Given the description of an element on the screen output the (x, y) to click on. 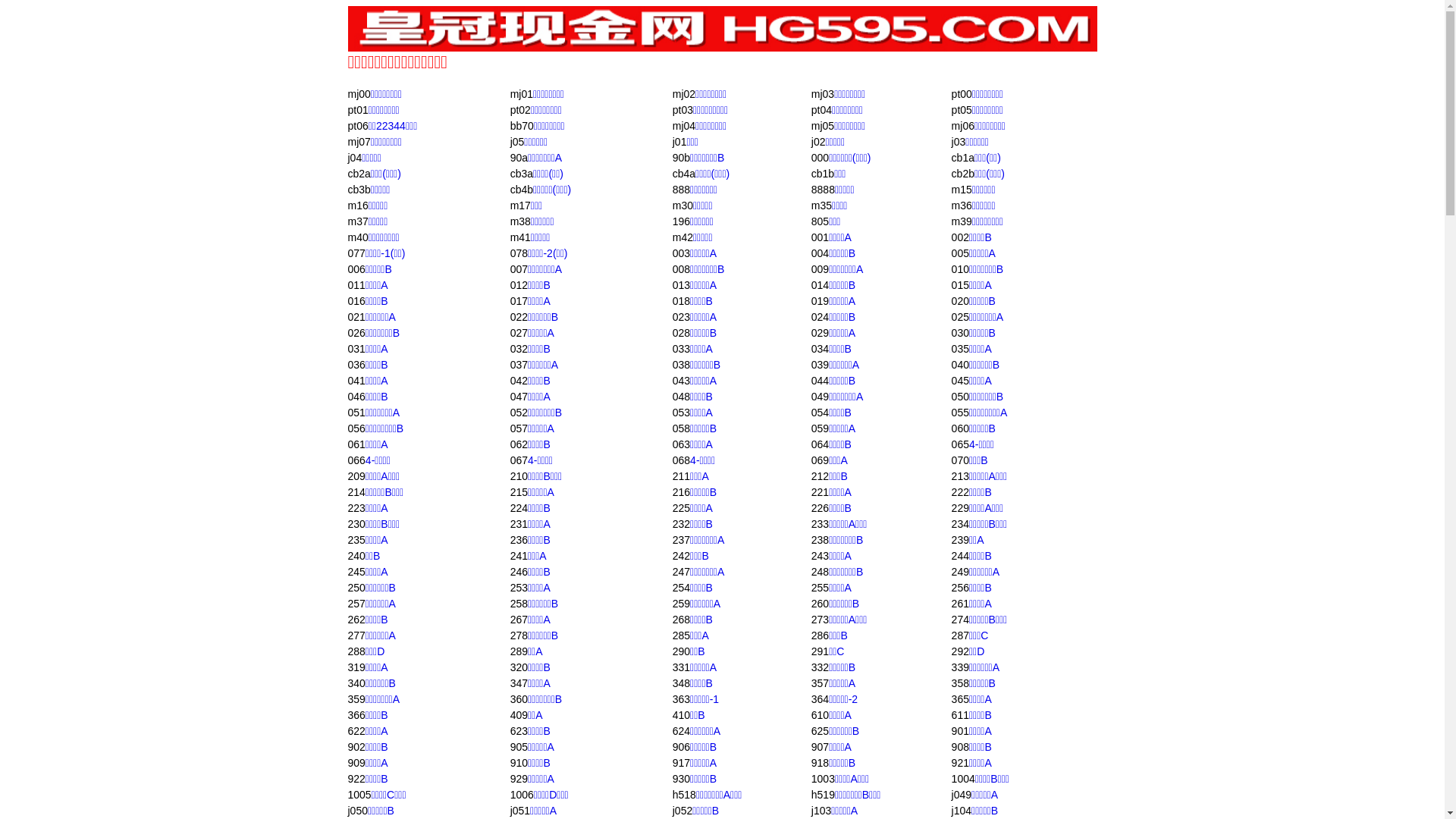
002 Element type: text (960, 237)
j04 Element type: text (354, 157)
238 Element type: text (819, 539)
033 Element type: text (681, 348)
278 Element type: text (518, 635)
922 Element type: text (355, 778)
364 Element type: text (819, 699)
366 Element type: text (355, 715)
249 Element type: text (960, 571)
909 Element type: text (355, 762)
m41 Element type: text (520, 237)
067 Element type: text (518, 460)
009 Element type: text (819, 269)
277 Element type: text (355, 635)
056 Element type: text (355, 428)
239 Element type: text (960, 539)
047 Element type: text (518, 396)
624 Element type: text (681, 730)
052 Element type: text (518, 412)
015 Element type: text (960, 285)
210 Element type: text (518, 476)
623 Element type: text (518, 730)
246 Element type: text (518, 571)
040 Element type: text (960, 364)
888 Element type: text (681, 189)
013 Element type: text (681, 285)
901 Element type: text (960, 730)
066 Element type: text (355, 460)
236 Element type: text (518, 539)
256 Element type: text (960, 587)
026 Element type: text (355, 332)
224 Element type: text (518, 508)
360 Element type: text (518, 699)
m16 Element type: text (357, 205)
001 Element type: text (819, 237)
244 Element type: text (960, 555)
008 Element type: text (681, 269)
mj07 Element type: text (358, 141)
216 Element type: text (681, 492)
059 Element type: text (819, 428)
213 Element type: text (960, 476)
410 Element type: text (681, 715)
035 Element type: text (960, 348)
pt06 Element type: text (357, 125)
917 Element type: text (681, 762)
1005 Element type: text (358, 794)
257 Element type: text (355, 603)
004 Element type: text (819, 253)
018 Element type: text (681, 300)
m17 Element type: text (520, 205)
610 Element type: text (819, 715)
248 Element type: text (819, 571)
231 Element type: text (518, 523)
058 Element type: text (681, 428)
90b Element type: text (681, 157)
bb70 Element type: text (521, 125)
034 Element type: text (819, 348)
929 Element type: text (518, 778)
j05 Element type: text (517, 141)
020 Element type: text (960, 300)
049 Element type: text (819, 396)
069 Element type: text (819, 460)
024 Element type: text (819, 316)
036 Element type: text (355, 364)
285 Element type: text (681, 635)
041 Element type: text (355, 380)
cb1b Element type: text (822, 173)
906 Element type: text (681, 746)
622 Element type: text (355, 730)
050 Element type: text (960, 396)
905 Element type: text (518, 746)
214 Element type: text (355, 492)
215 Element type: text (518, 492)
363 Element type: text (681, 699)
021 Element type: text (355, 316)
235 Element type: text (355, 539)
006 Element type: text (355, 269)
017 Element type: text (518, 300)
j02 Element type: text (818, 141)
m40 Element type: text (357, 237)
j049 Element type: text (961, 794)
061 Element type: text (355, 444)
209 Element type: text (355, 476)
267 Element type: text (518, 619)
908 Element type: text (960, 746)
011 Element type: text (355, 285)
pt02 Element type: text (520, 109)
287 Element type: text (960, 635)
010 Element type: text (960, 269)
m15 Element type: text (961, 189)
028 Element type: text (681, 332)
065 Element type: text (960, 444)
250 Element type: text (355, 587)
234 Element type: text (960, 523)
cb4a Element type: text (683, 173)
258 Element type: text (518, 603)
j051 Element type: text (520, 810)
cb4b Element type: text (521, 189)
mj06 Element type: text (962, 125)
907 Element type: text (819, 746)
409 Element type: text (518, 715)
319 Element type: text (355, 667)
237 Element type: text (681, 539)
022 Element type: text (518, 316)
1006 Element type: text (521, 794)
625 Element type: text (819, 730)
pt05 Element type: text (961, 109)
003 Element type: text (681, 253)
h519 Element type: text (822, 794)
053 Element type: text (681, 412)
h518 Element type: text (684, 794)
046 Element type: text (355, 396)
m30 Element type: text (682, 205)
pt03 Element type: text (682, 109)
291 Element type: text (819, 651)
078 Element type: text (518, 253)
332 Element type: text (819, 667)
029 Element type: text (819, 332)
063 Element type: text (681, 444)
243 Element type: text (819, 555)
340 Element type: text (355, 683)
mj01 Element type: text (521, 93)
070 Element type: text (960, 460)
225 Element type: text (681, 508)
222 Element type: text (960, 492)
048 Element type: text (681, 396)
pt00 Element type: text (961, 93)
232 Element type: text (681, 523)
918 Element type: text (819, 762)
230 Element type: text (355, 523)
mj05 Element type: text (822, 125)
j01 Element type: text (679, 141)
044 Element type: text (819, 380)
8888 Element type: text (822, 189)
060 Element type: text (960, 428)
245 Element type: text (355, 571)
910 Element type: text (518, 762)
262 Element type: text (355, 619)
068 Element type: text (681, 460)
027 Element type: text (518, 332)
331 Element type: text (681, 667)
j052 Element type: text (682, 810)
1003 Element type: text (822, 778)
347 Element type: text (518, 683)
212 Element type: text (819, 476)
037 Element type: text (518, 364)
005 Element type: text (960, 253)
221 Element type: text (819, 492)
077 Element type: text (355, 253)
m35 Element type: text (821, 205)
292 Element type: text (960, 651)
039 Element type: text (819, 364)
223 Element type: text (355, 508)
226 Element type: text (819, 508)
320 Element type: text (518, 667)
038 Element type: text (681, 364)
242 Element type: text (681, 555)
mj02 Element type: text (683, 93)
032 Element type: text (518, 348)
274 Element type: text (960, 619)
064 Element type: text (819, 444)
j050 Element type: text (357, 810)
339 Element type: text (960, 667)
m37 Element type: text (357, 221)
254 Element type: text (681, 587)
cb3b Element type: text (358, 189)
j03 Element type: text (958, 141)
241 Element type: text (518, 555)
m36 Element type: text (961, 205)
m38 Element type: text (520, 221)
805 Element type: text (819, 221)
348 Element type: text (681, 683)
289 Element type: text (518, 651)
055 Element type: text (960, 412)
cb3a Element type: text (521, 173)
pt01 Element type: text (357, 109)
cb2b Element type: text (962, 173)
m42 Element type: text (682, 237)
288 Element type: text (355, 651)
930 Element type: text (681, 778)
m39 Element type: text (961, 221)
045 Element type: text (960, 380)
268 Element type: text (681, 619)
014 Element type: text (819, 285)
j104 Element type: text (961, 810)
054 Element type: text (819, 412)
012 Element type: text (518, 285)
cb1a Element type: text (962, 157)
253 Element type: text (518, 587)
1004 Element type: text (963, 778)
019 Element type: text (819, 300)
016 Element type: text (355, 300)
611 Element type: text (960, 715)
j103 Element type: text (821, 810)
259 Element type: text (681, 603)
030 Element type: text (960, 332)
290 Element type: text (681, 651)
229 Element type: text (960, 508)
057 Element type: text (518, 428)
031 Element type: text (355, 348)
196 Element type: text (681, 221)
023 Element type: text (681, 316)
902 Element type: text (355, 746)
286 Element type: text (819, 635)
921 Element type: text (960, 762)
062 Element type: text (518, 444)
211 Element type: text (681, 476)
357 Element type: text (819, 683)
pt04 Element type: text (821, 109)
365 Element type: text (960, 699)
cb2a Element type: text (358, 173)
233 Element type: text (819, 523)
240 Element type: text (355, 555)
000 Element type: text (819, 157)
247 Element type: text (681, 571)
mj04 Element type: text (683, 125)
261 Element type: text (960, 603)
359 Element type: text (355, 699)
358 Element type: text (960, 683)
051 Element type: text (355, 412)
90a Element type: text (518, 157)
043 Element type: text (681, 380)
025 Element type: text (960, 316)
273 Element type: text (819, 619)
260 Element type: text (819, 603)
007 Element type: text (518, 269)
042 Element type: text (518, 380)
mj03 Element type: text (822, 93)
255 Element type: text (819, 587)
